Given the description of an element on the screen output the (x, y) to click on. 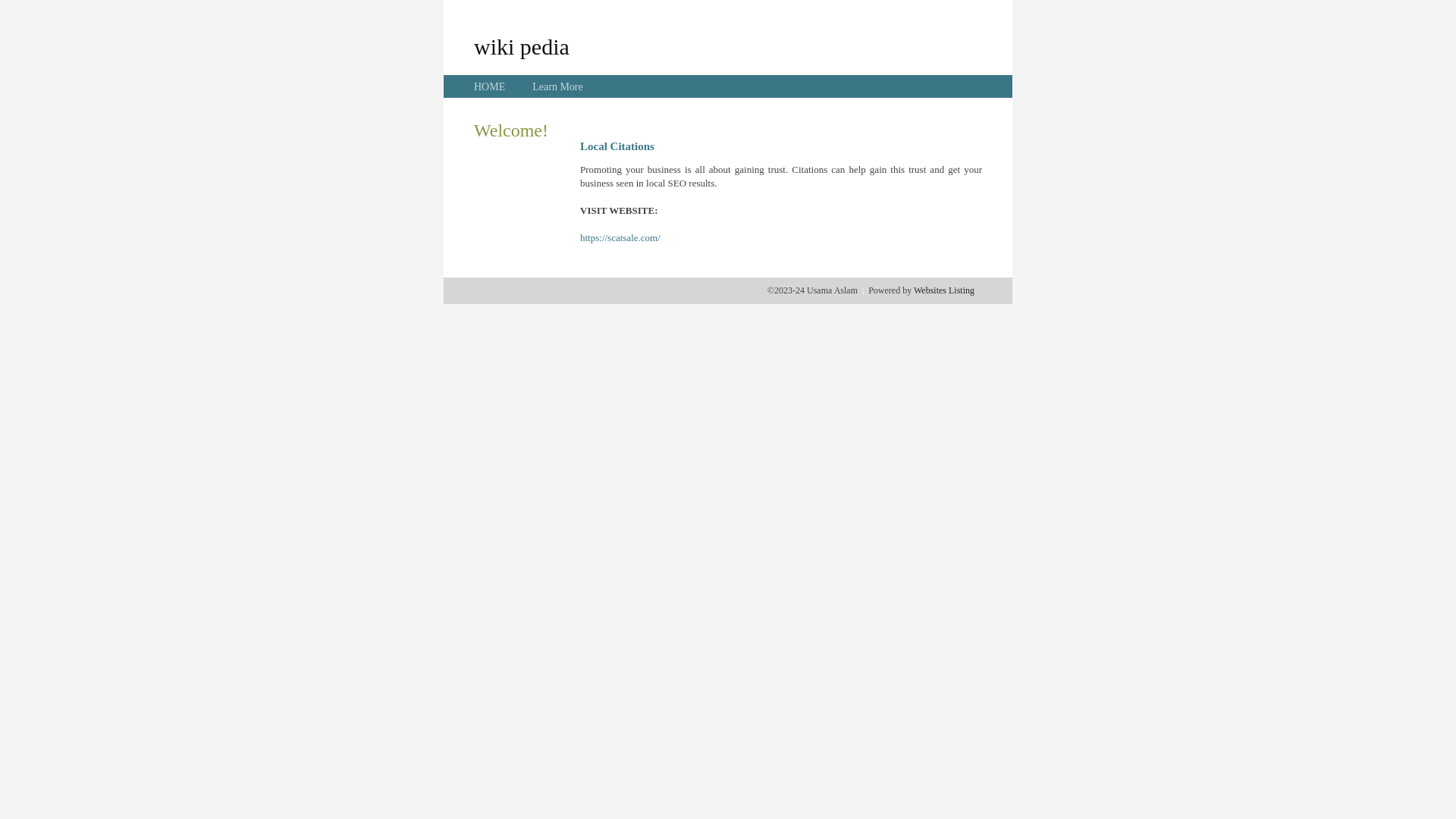
Learn More Element type: text (557, 86)
HOME Element type: text (489, 86)
wiki pedia Element type: text (521, 46)
https://scatsale.com/ Element type: text (620, 237)
Websites Listing Element type: text (943, 290)
